Given the description of an element on the screen output the (x, y) to click on. 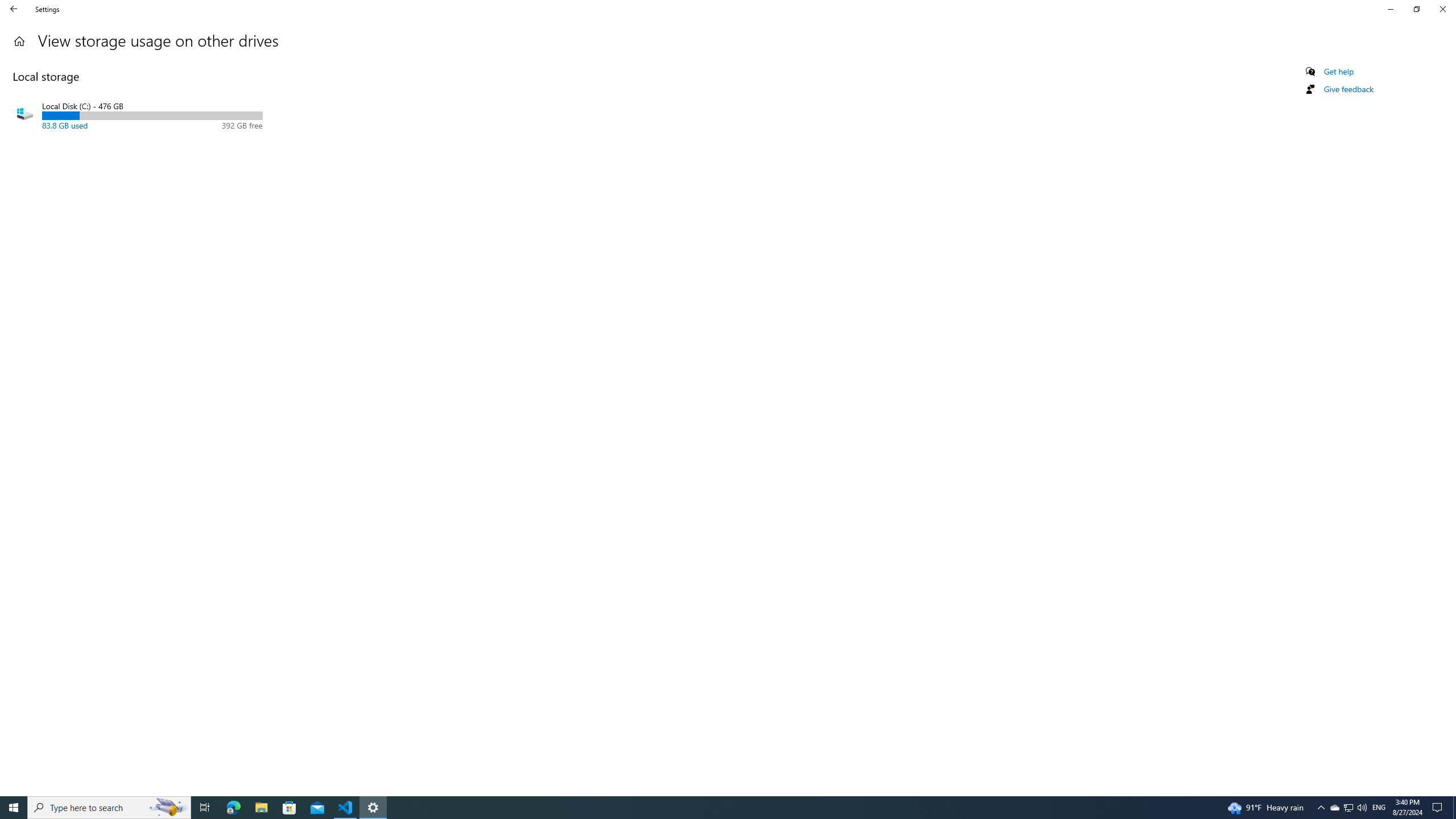
File Explorer (261, 807)
Close Settings (1442, 9)
Show desktop (1347, 807)
Search highlights icon opens search home window (1454, 807)
Q2790: 100% (167, 807)
Microsoft Edge (1361, 807)
Minimize Settings (233, 807)
Notification Chevron (1390, 9)
Running applications (1320, 807)
Task View (706, 807)
Visual Studio Code - 1 running window (204, 807)
